Given the description of an element on the screen output the (x, y) to click on. 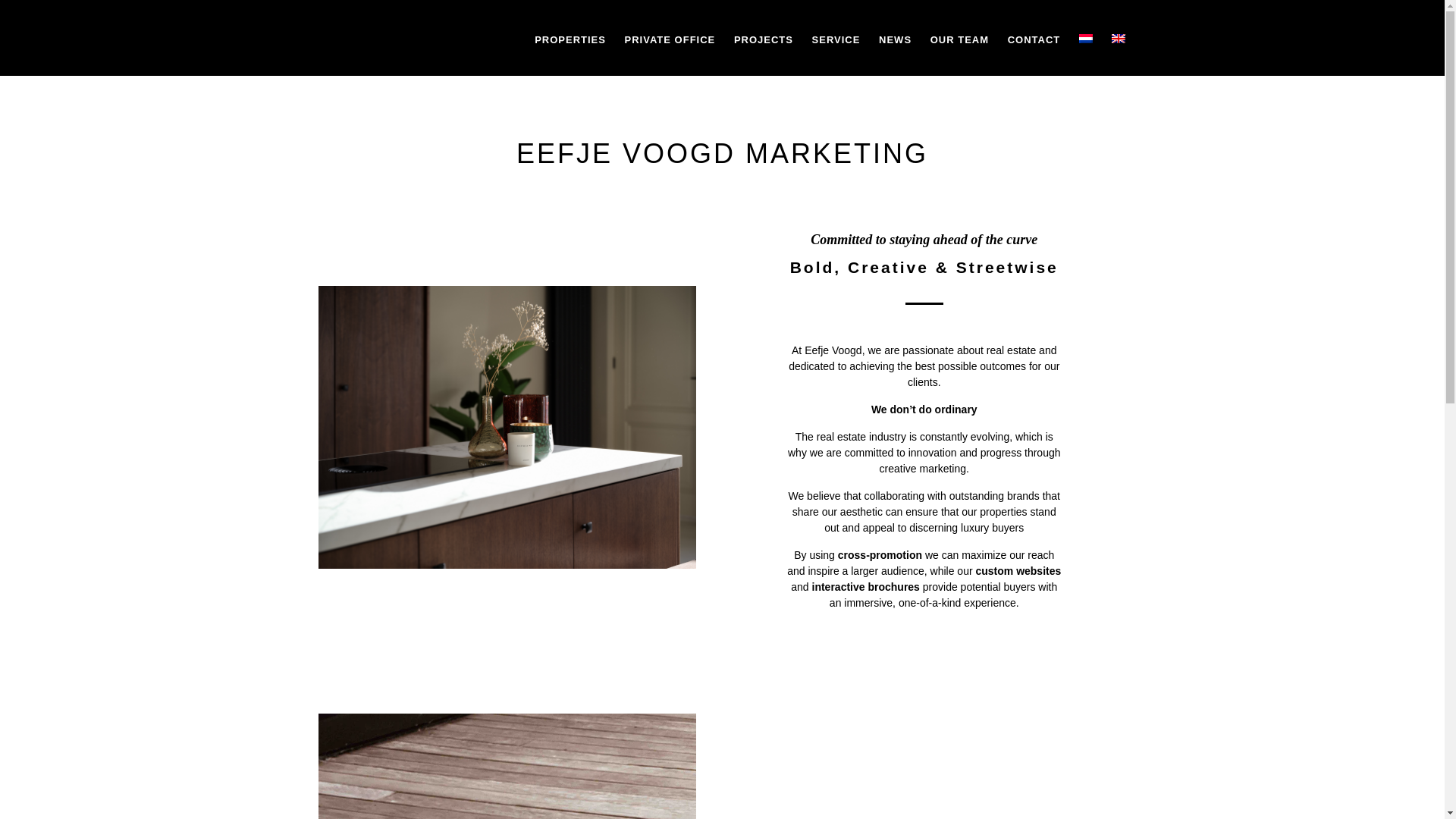
OUR TEAM (959, 39)
PRIVATE OFFICE (670, 39)
NEWS (895, 39)
PROPERTIES (569, 39)
SERVICE (836, 39)
PROJECTS (763, 39)
CONTACT (1034, 39)
